Given the description of an element on the screen output the (x, y) to click on. 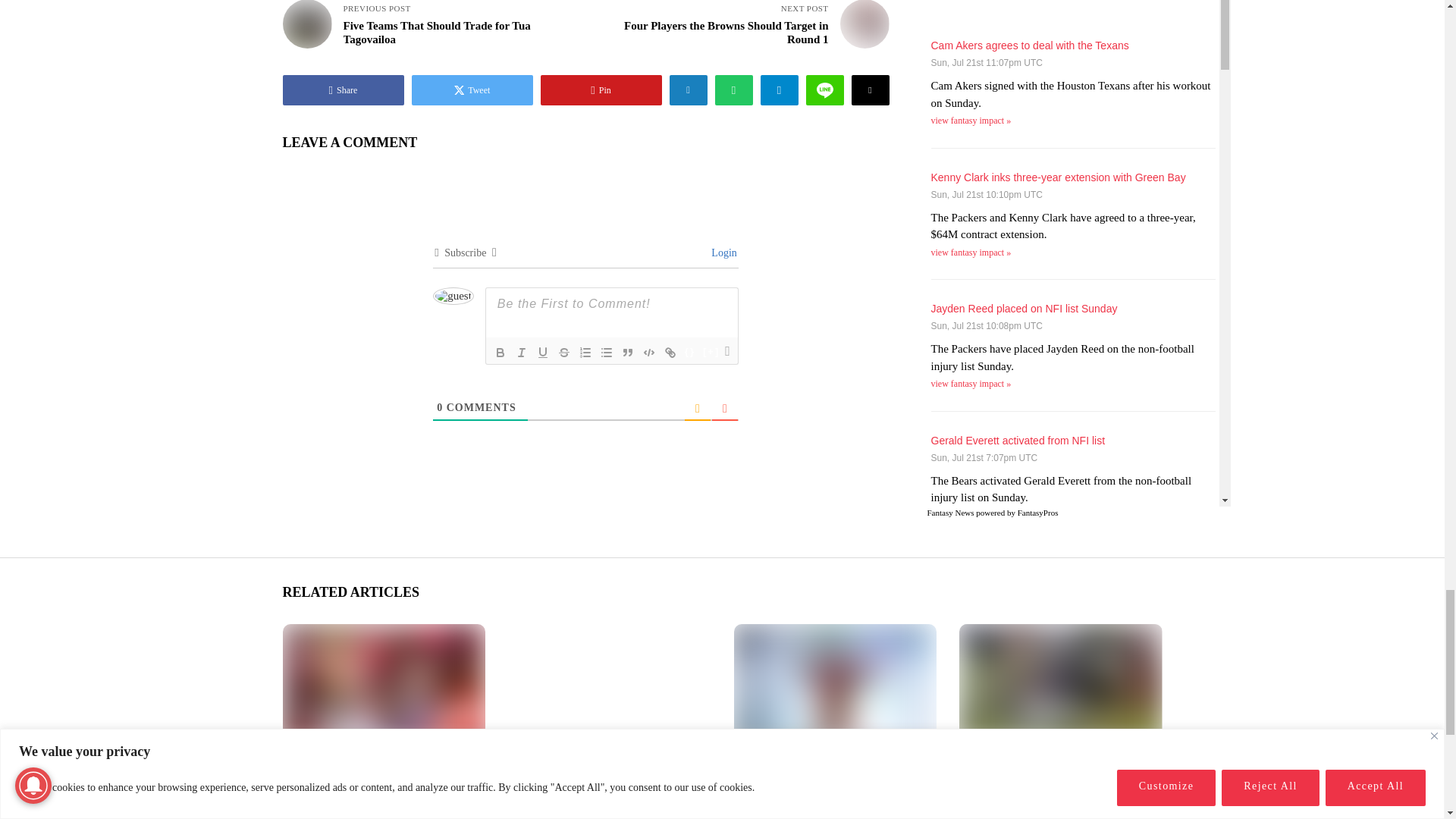
Code Block (649, 352)
Spoiler (710, 352)
Underline (542, 352)
Strike (564, 352)
Unordered List (606, 352)
Source Code (689, 352)
Link (670, 352)
Blockquote (628, 352)
Bold (500, 352)
Italic (521, 352)
Ordered List (585, 352)
